Given the description of an element on the screen output the (x, y) to click on. 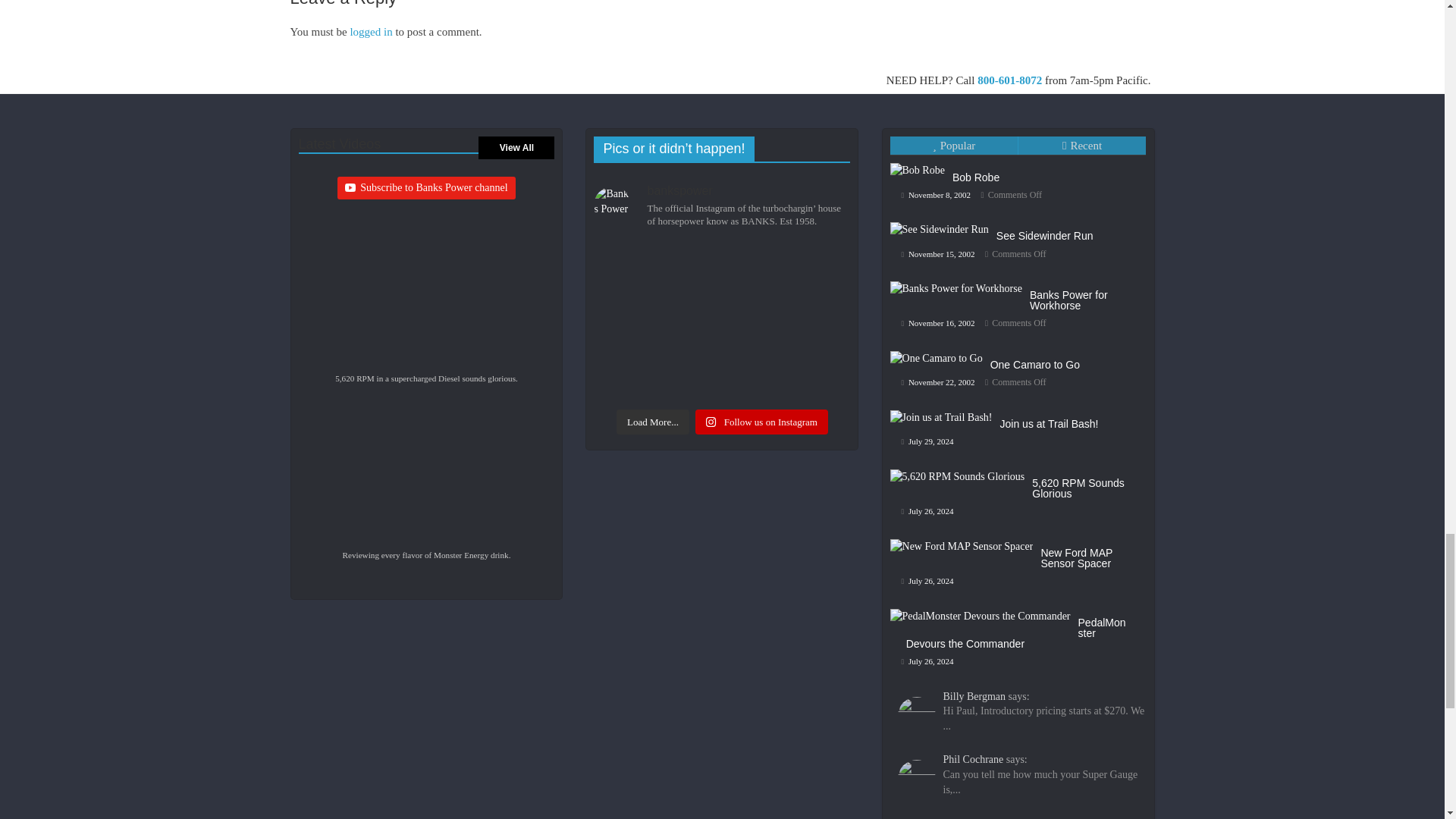
12:00 am (936, 194)
12:00 am (938, 253)
Bob Robe (920, 162)
See Sidewinder Run (1044, 235)
Bob Robe (916, 170)
See Sidewinder Run (942, 221)
Bob Robe (975, 177)
See Sidewinder Run (938, 229)
